Given the description of an element on the screen output the (x, y) to click on. 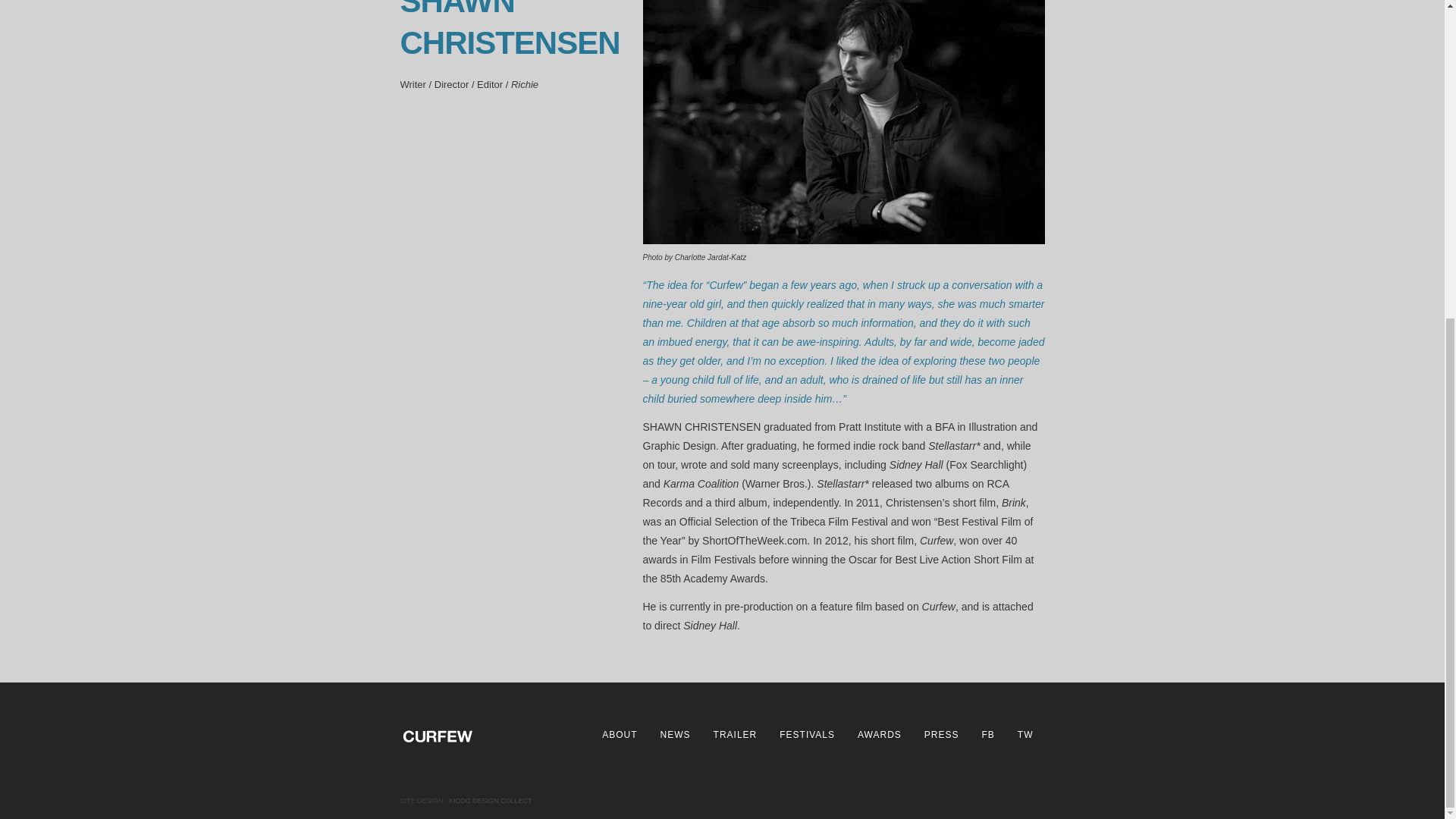
TW (1025, 734)
KIDDO DESIGN COLLECT (490, 800)
AWARDS (879, 734)
FESTIVALS (807, 734)
NEWS (675, 734)
ABOUT (619, 734)
TRAILER (735, 734)
FB (987, 734)
PRESS (941, 734)
